Given the description of an element on the screen output the (x, y) to click on. 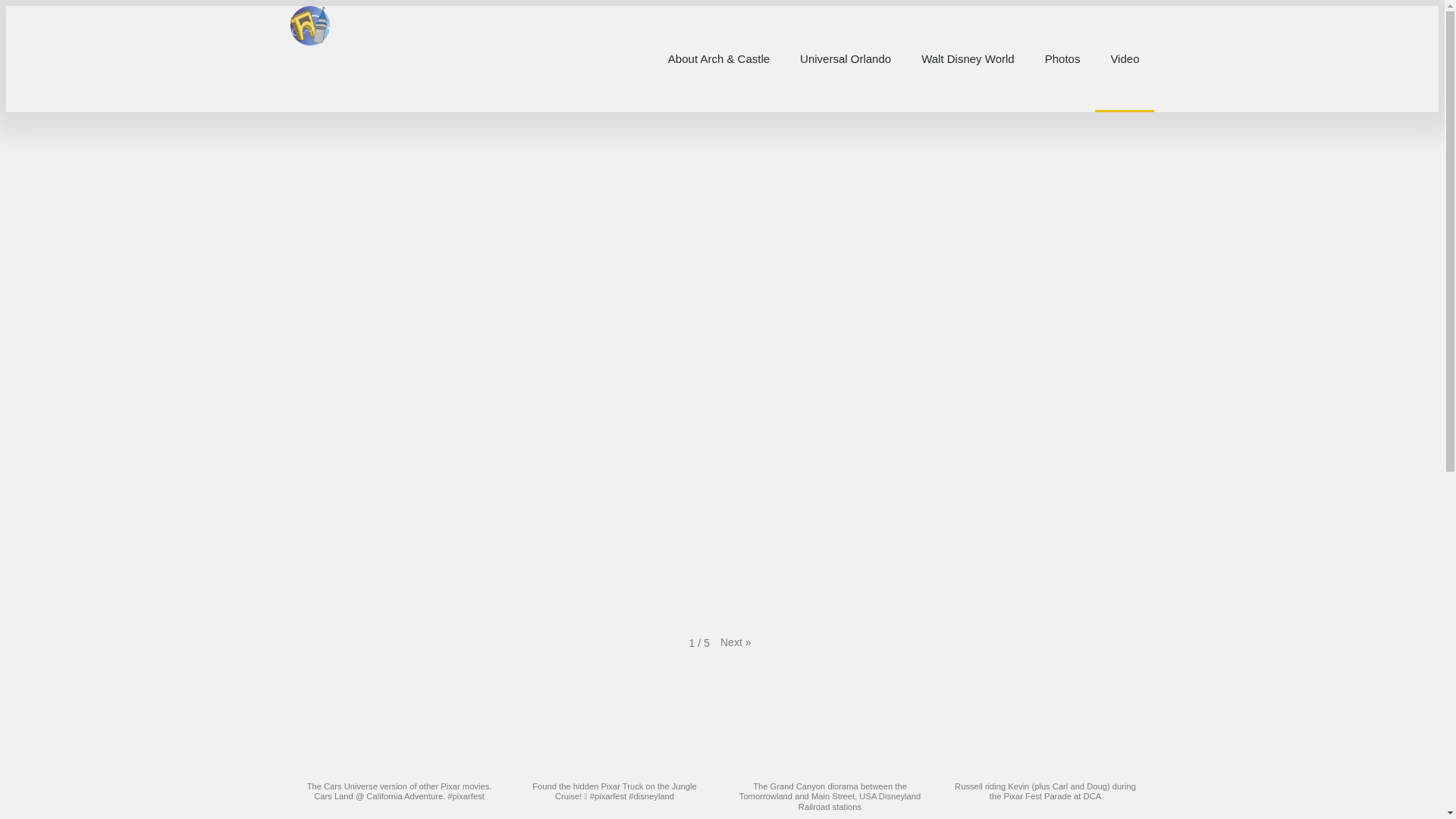
Walt Disney World (967, 58)
Universal Orlando (844, 58)
